Given the description of an element on the screen output the (x, y) to click on. 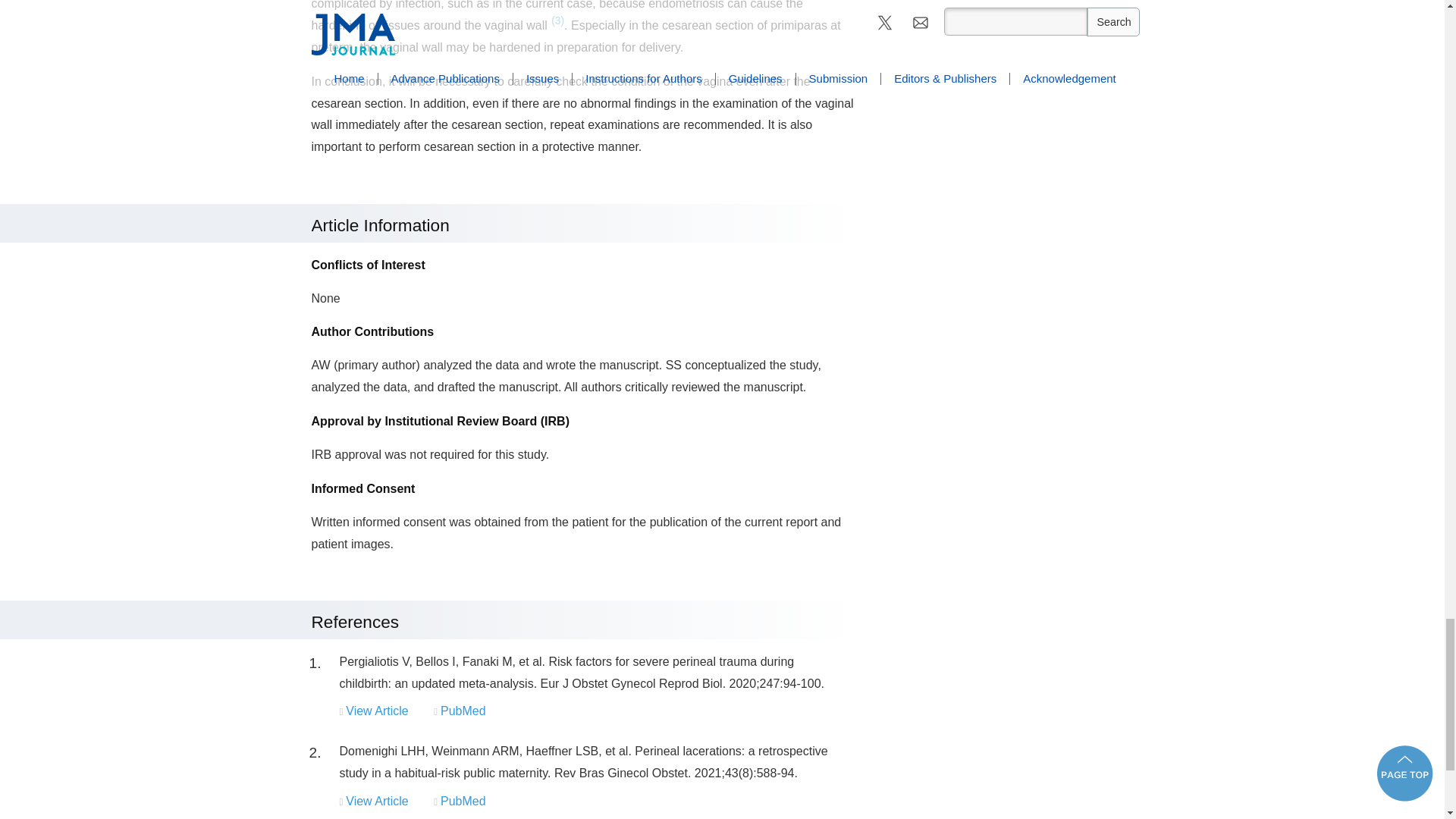
View Article (376, 800)
View Article (376, 710)
PubMed (463, 710)
